Given the description of an element on the screen output the (x, y) to click on. 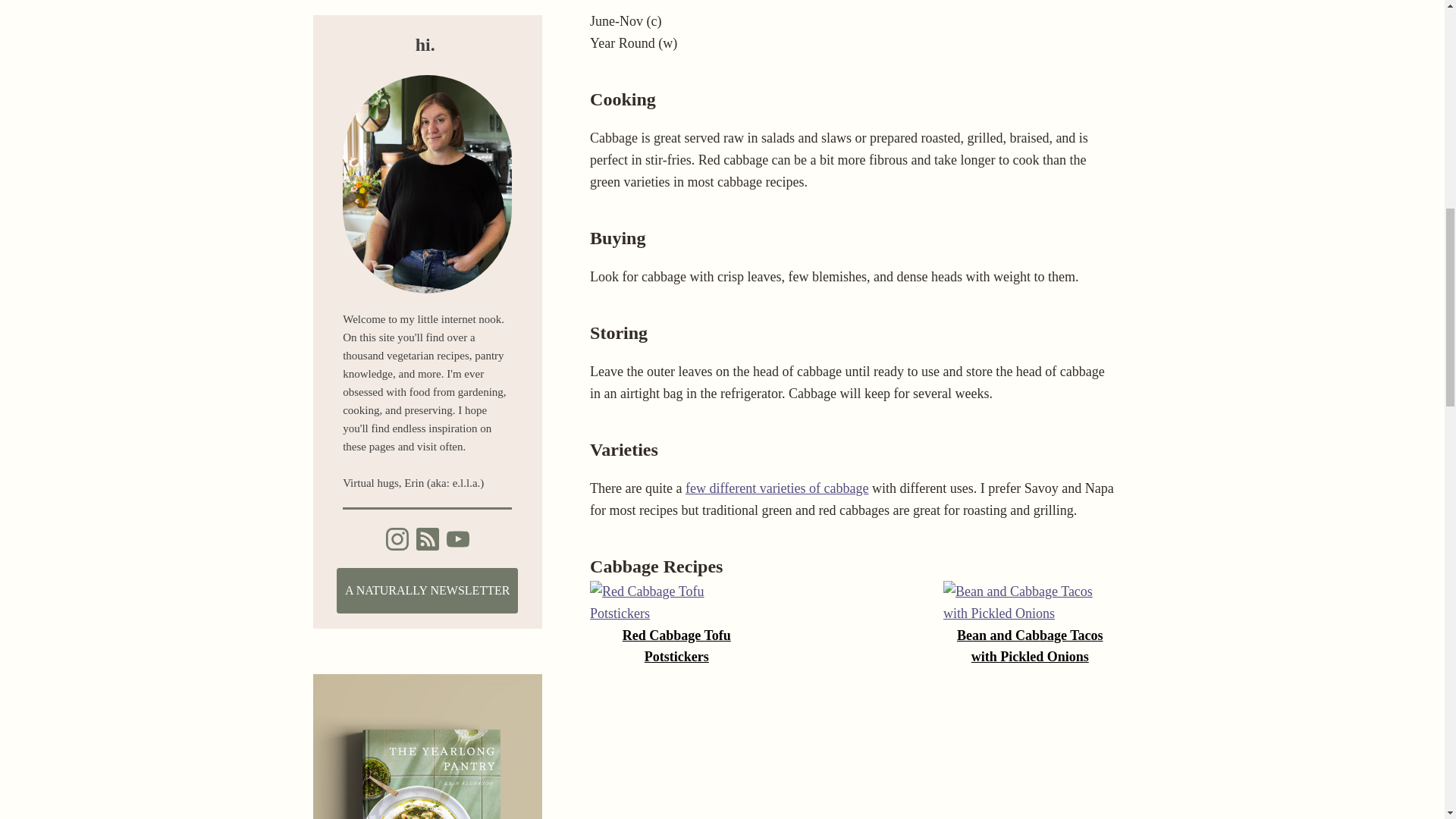
few different varieties of cabbage (777, 488)
A NATURALLY NEWSLETTER (427, 590)
Red Cabbage Tofu Potstickers (675, 646)
